Given the description of an element on the screen output the (x, y) to click on. 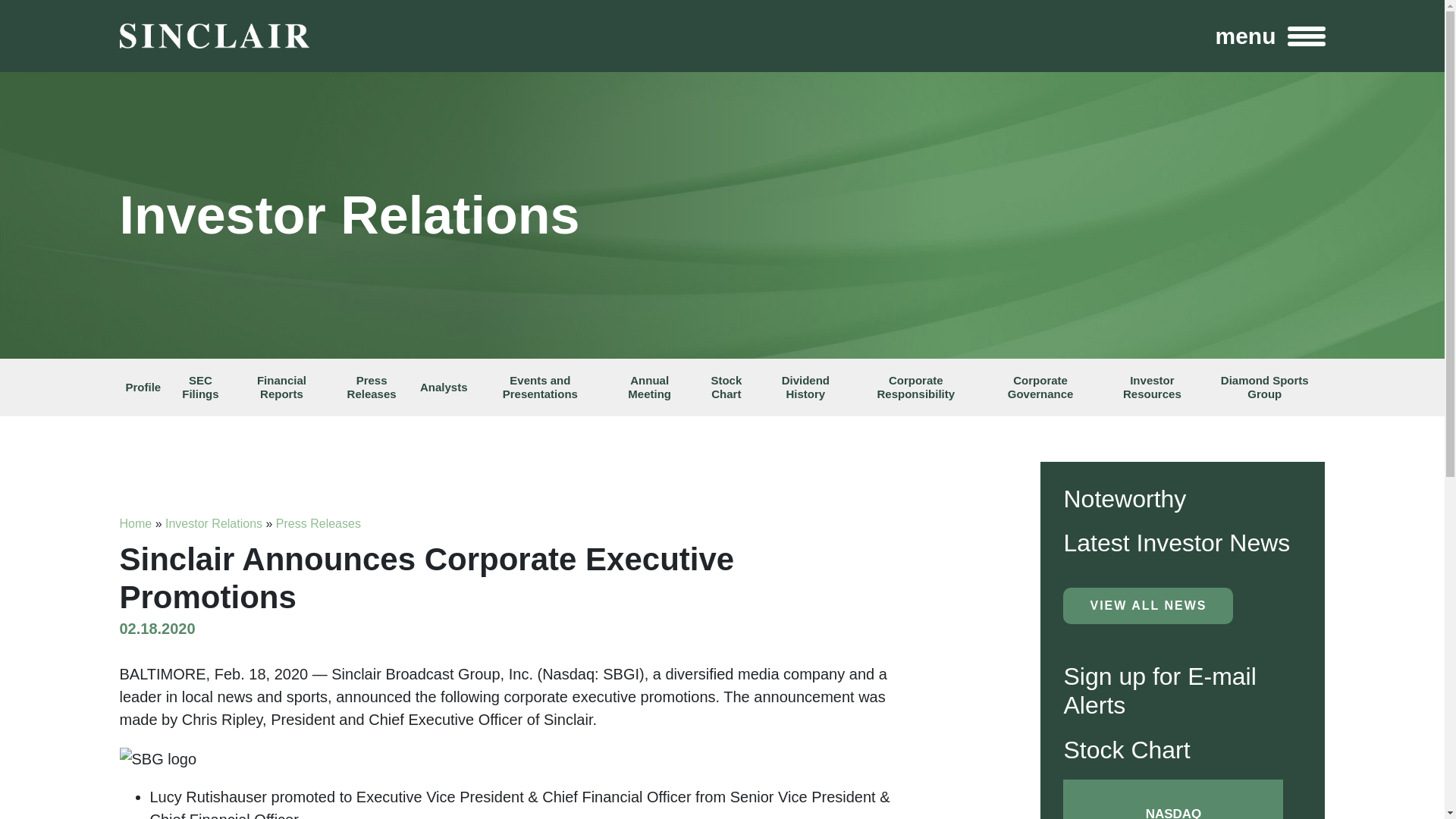
SBG logo (157, 758)
menu (1269, 35)
